Given the description of an element on the screen output the (x, y) to click on. 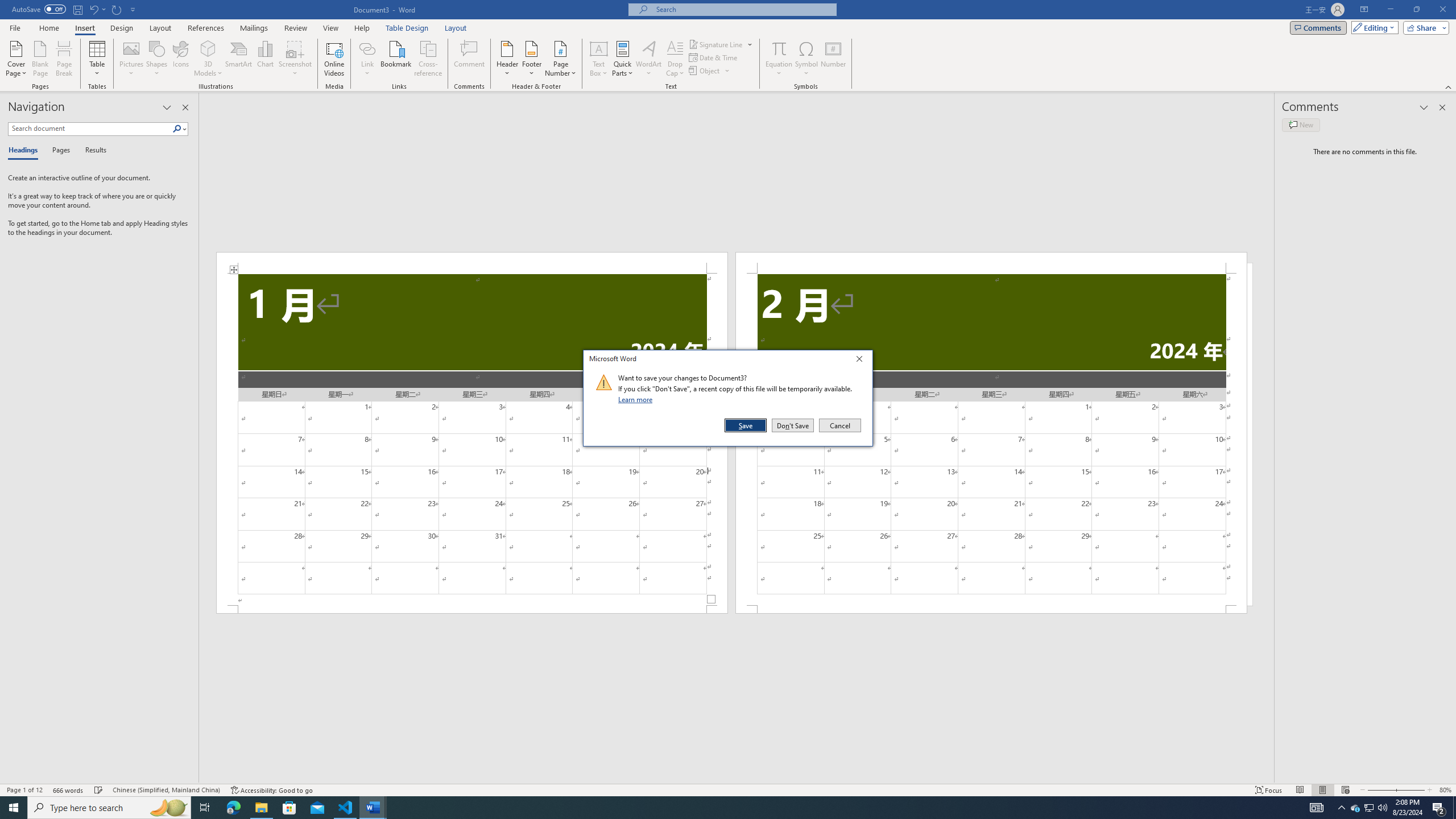
Undo Increase Indent (96, 9)
Review (295, 28)
Task View (204, 807)
Signature Line (716, 44)
Notification Chevron (1341, 807)
Restore Down (1416, 9)
Equation (778, 48)
Cross-reference... (428, 58)
Comments (1318, 27)
More Options (778, 68)
Web Layout (1344, 790)
Date & Time... (714, 56)
